Given the description of an element on the screen output the (x, y) to click on. 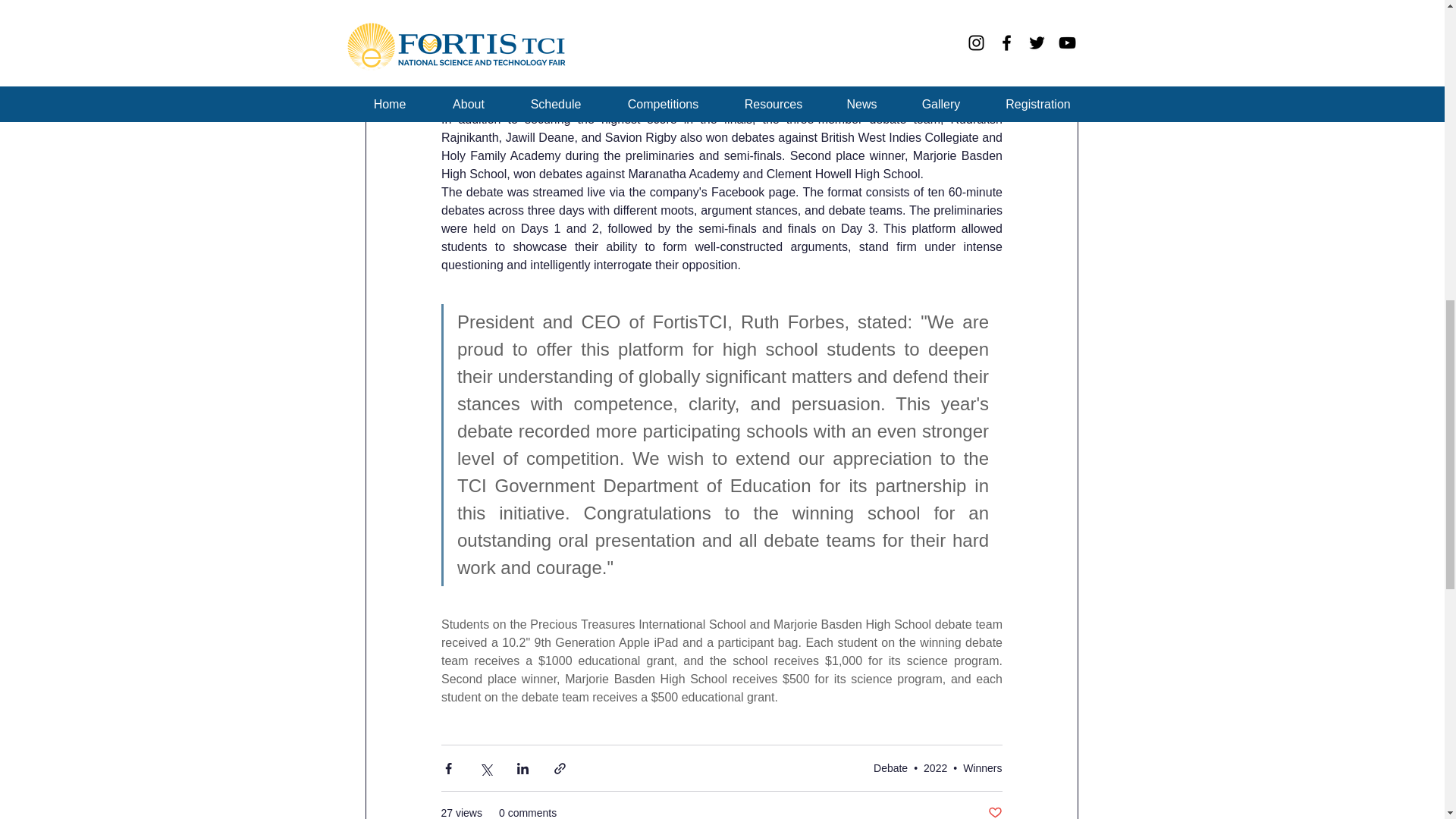
Post not marked as liked (994, 812)
Debate (890, 767)
Winners (981, 767)
2022 (935, 767)
